Given the description of an element on the screen output the (x, y) to click on. 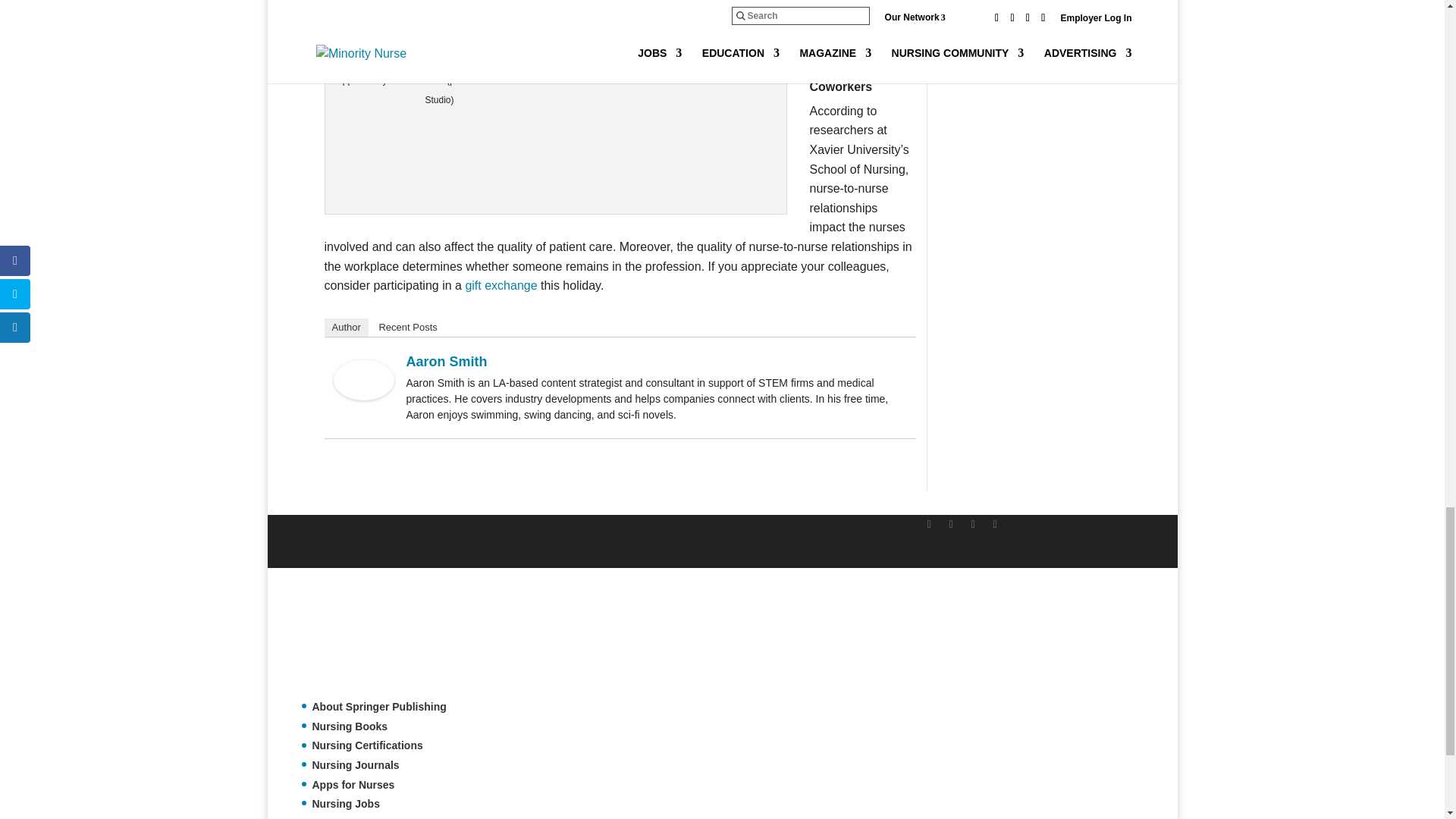
Springer Publishing Company (376, 640)
